Given the description of an element on the screen output the (x, y) to click on. 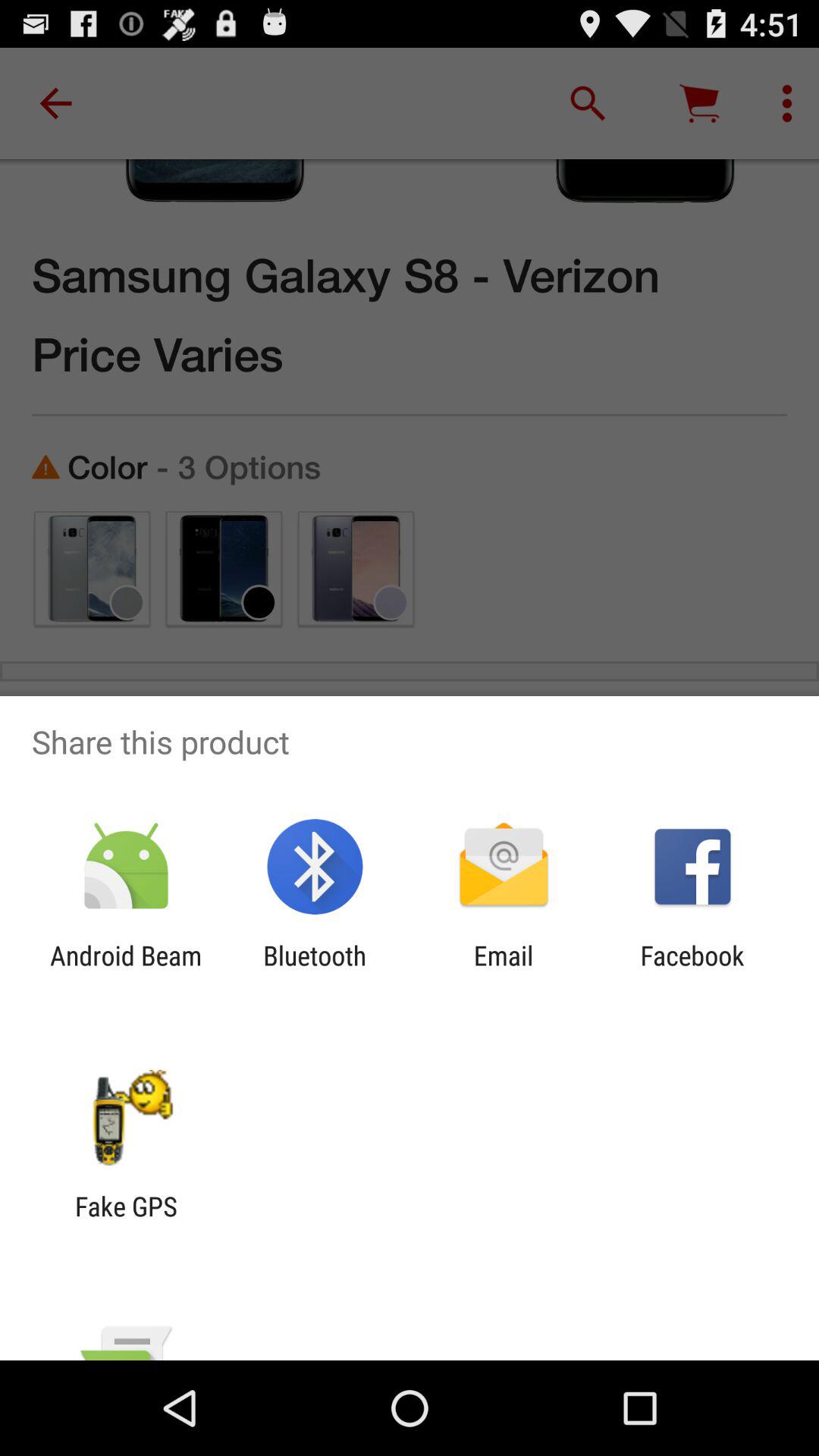
click fake gps item (126, 1221)
